Given the description of an element on the screen output the (x, y) to click on. 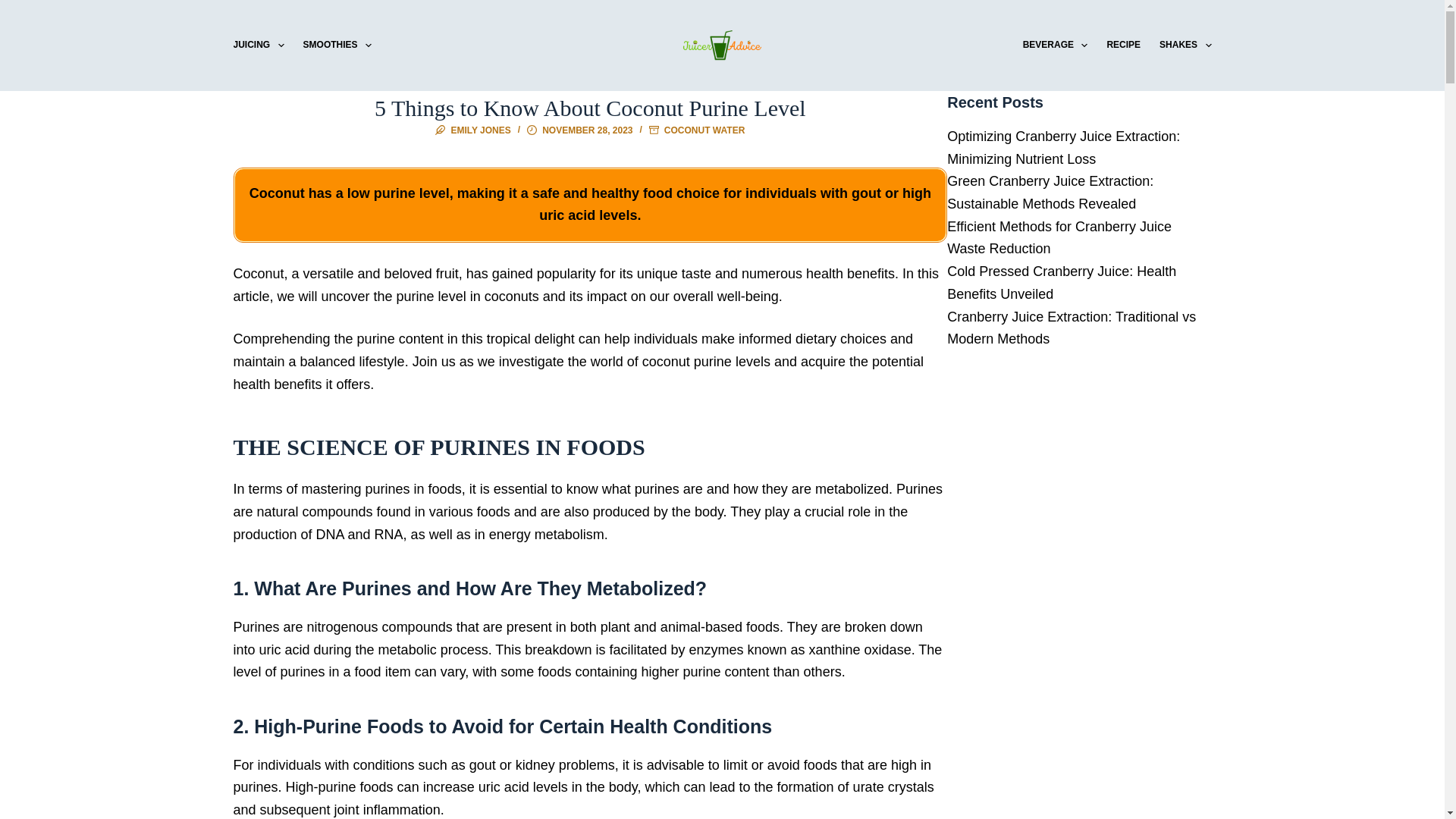
Skip to content (15, 7)
Posts by Emily Jones (480, 130)
5 Things to Know About Coconut Purine Level (589, 107)
